Given the description of an element on the screen output the (x, y) to click on. 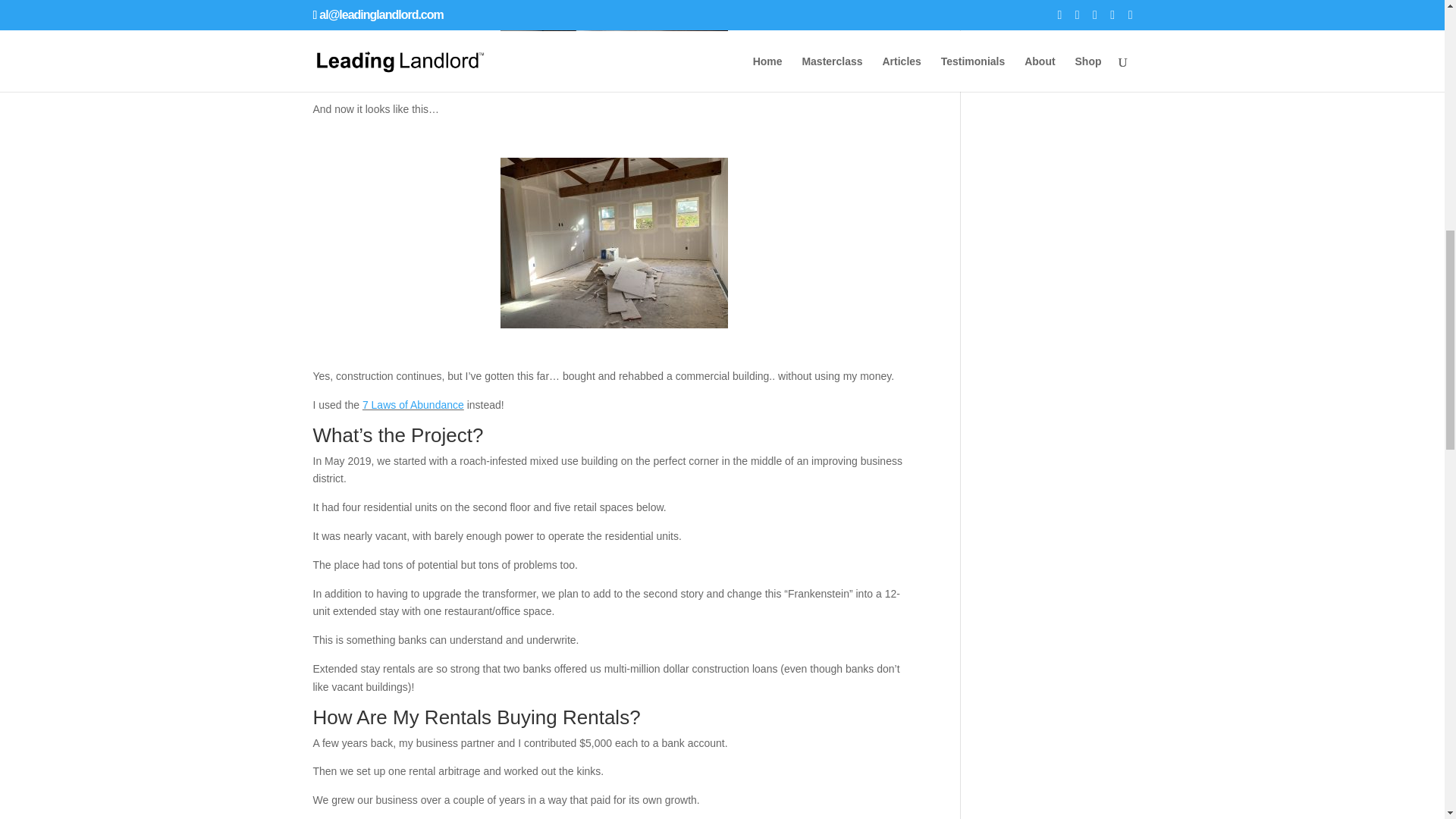
7 Laws of Abundance (413, 404)
